Given the description of an element on the screen output the (x, y) to click on. 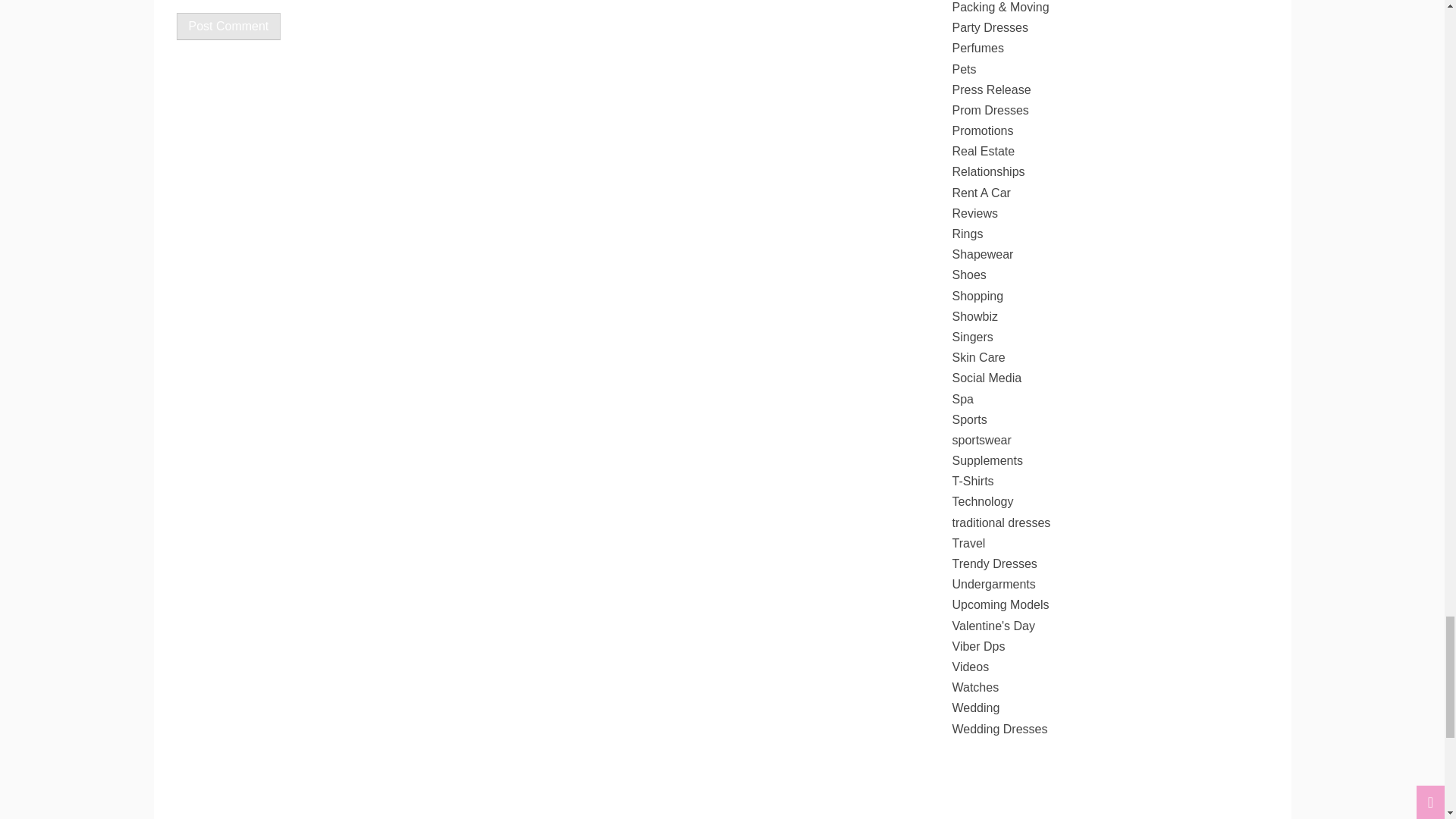
Post Comment (228, 26)
